Given the description of an element on the screen output the (x, y) to click on. 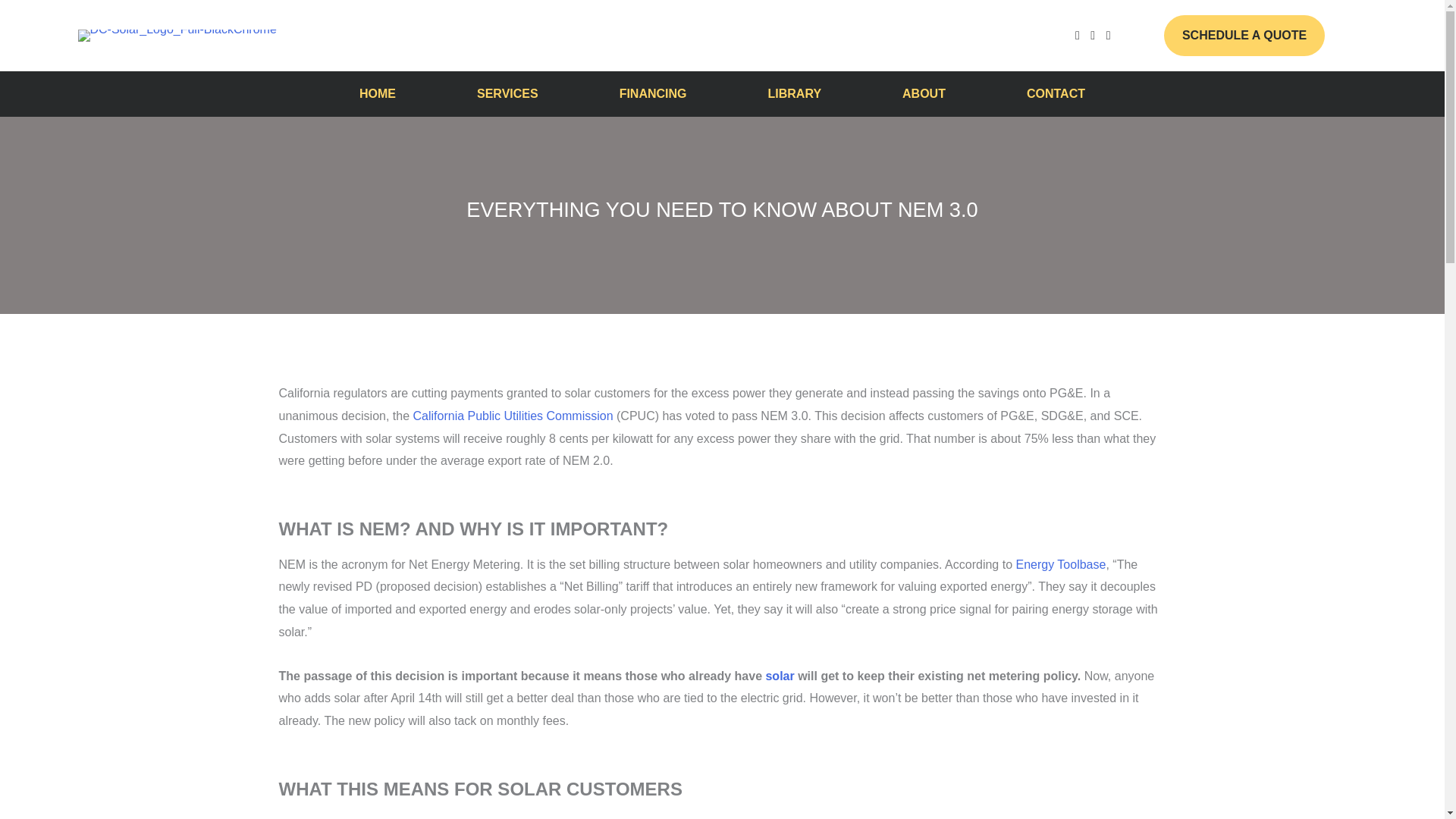
HOME (377, 94)
SERVICES (507, 94)
SCHEDULE A QUOTE (1243, 35)
